Given the description of an element on the screen output the (x, y) to click on. 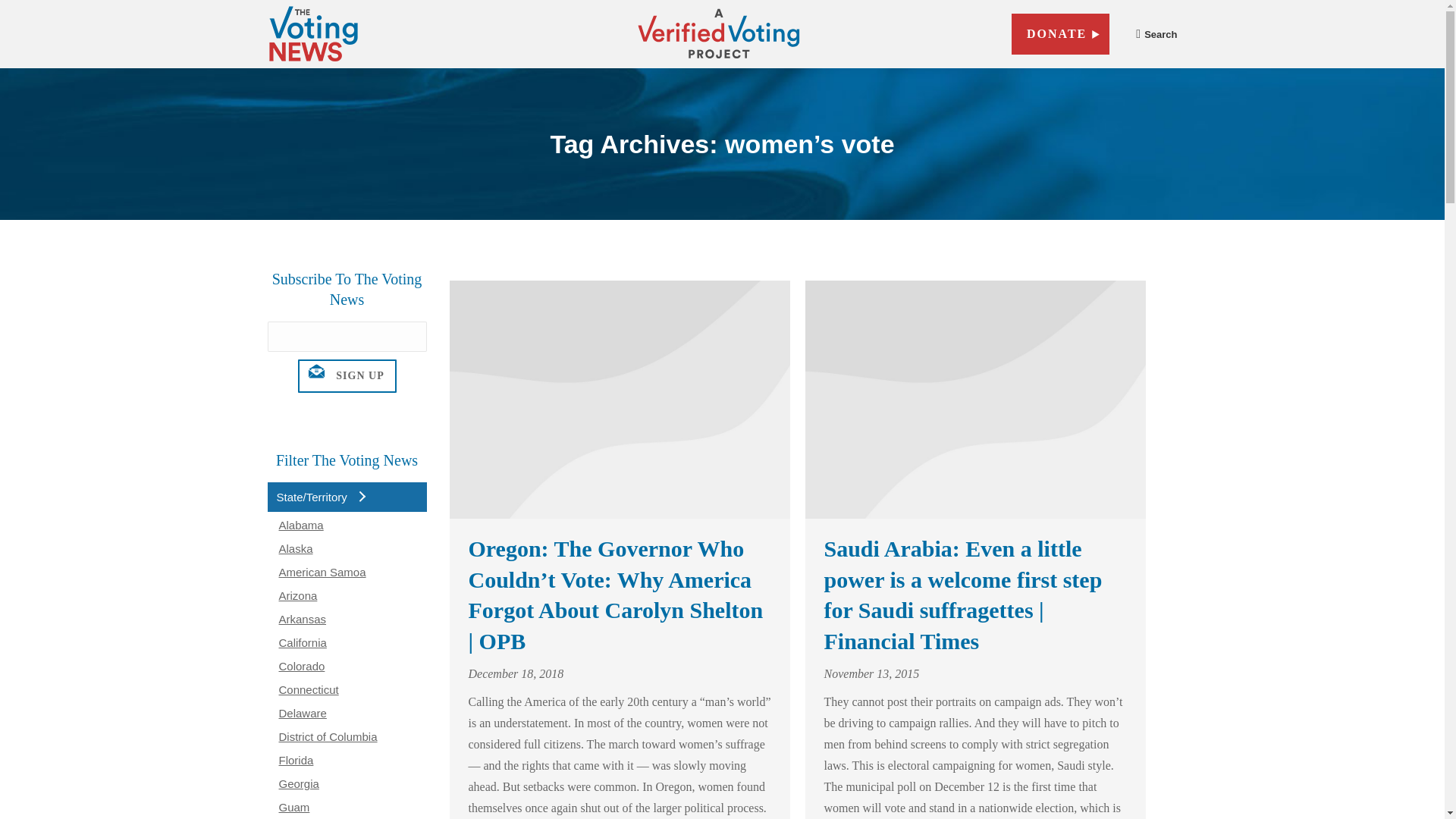
Guam (294, 807)
Go! (1155, 80)
Colorado (301, 666)
03:03 (871, 673)
Delaware (302, 712)
Arizona (298, 594)
California (302, 642)
DONATE (1060, 33)
Go! (1155, 80)
Connecticut (309, 689)
Sign Up (346, 376)
Arkansas (302, 618)
03:10 (516, 673)
Alabama (301, 524)
American Samoa (322, 571)
